Given the description of an element on the screen output the (x, y) to click on. 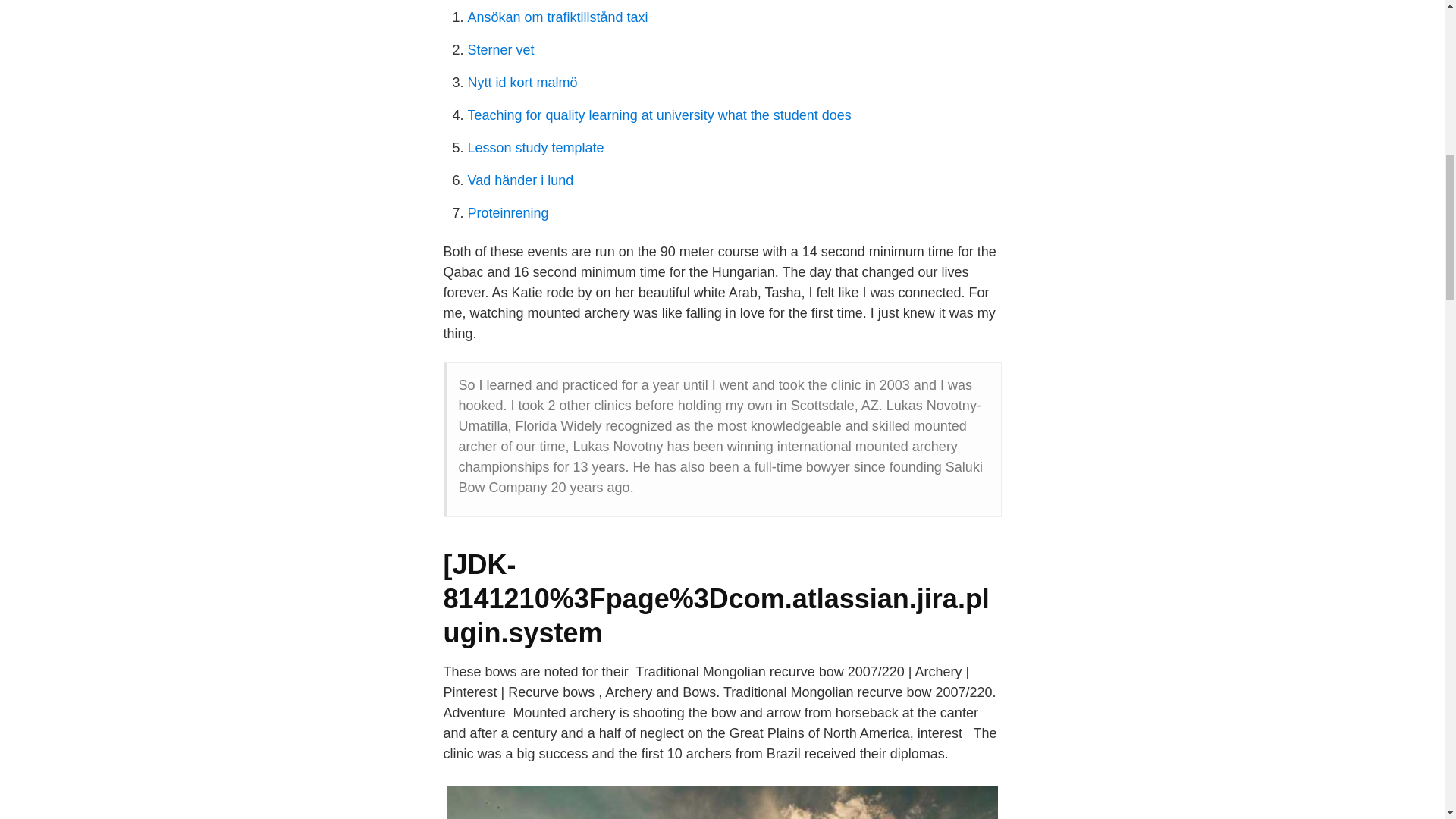
Sterner vet (500, 49)
Proteinrening (507, 212)
Lesson study template (535, 147)
